Given the description of an element on the screen output the (x, y) to click on. 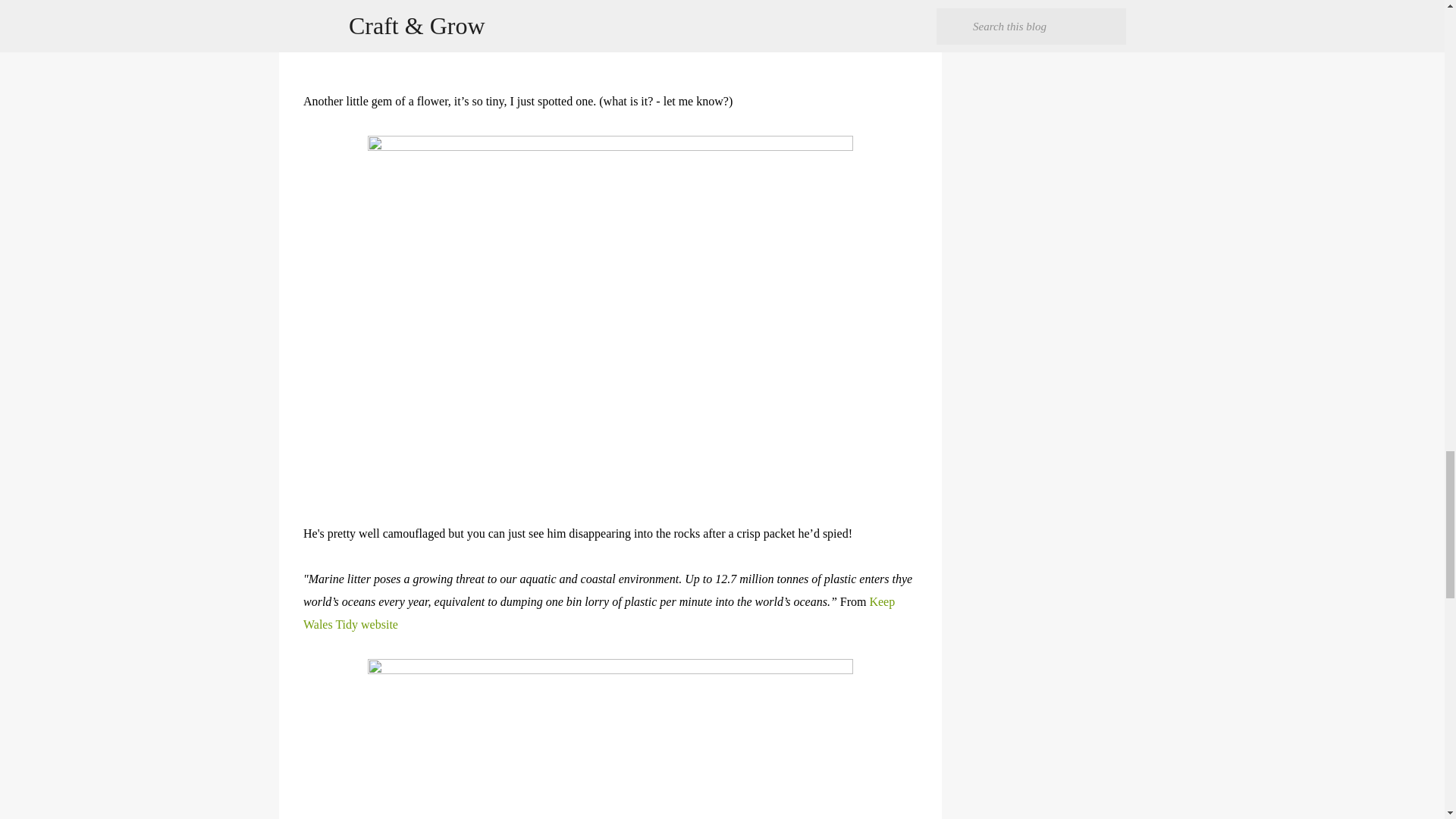
Keep Wales Tidy website (598, 612)
